Given the description of an element on the screen output the (x, y) to click on. 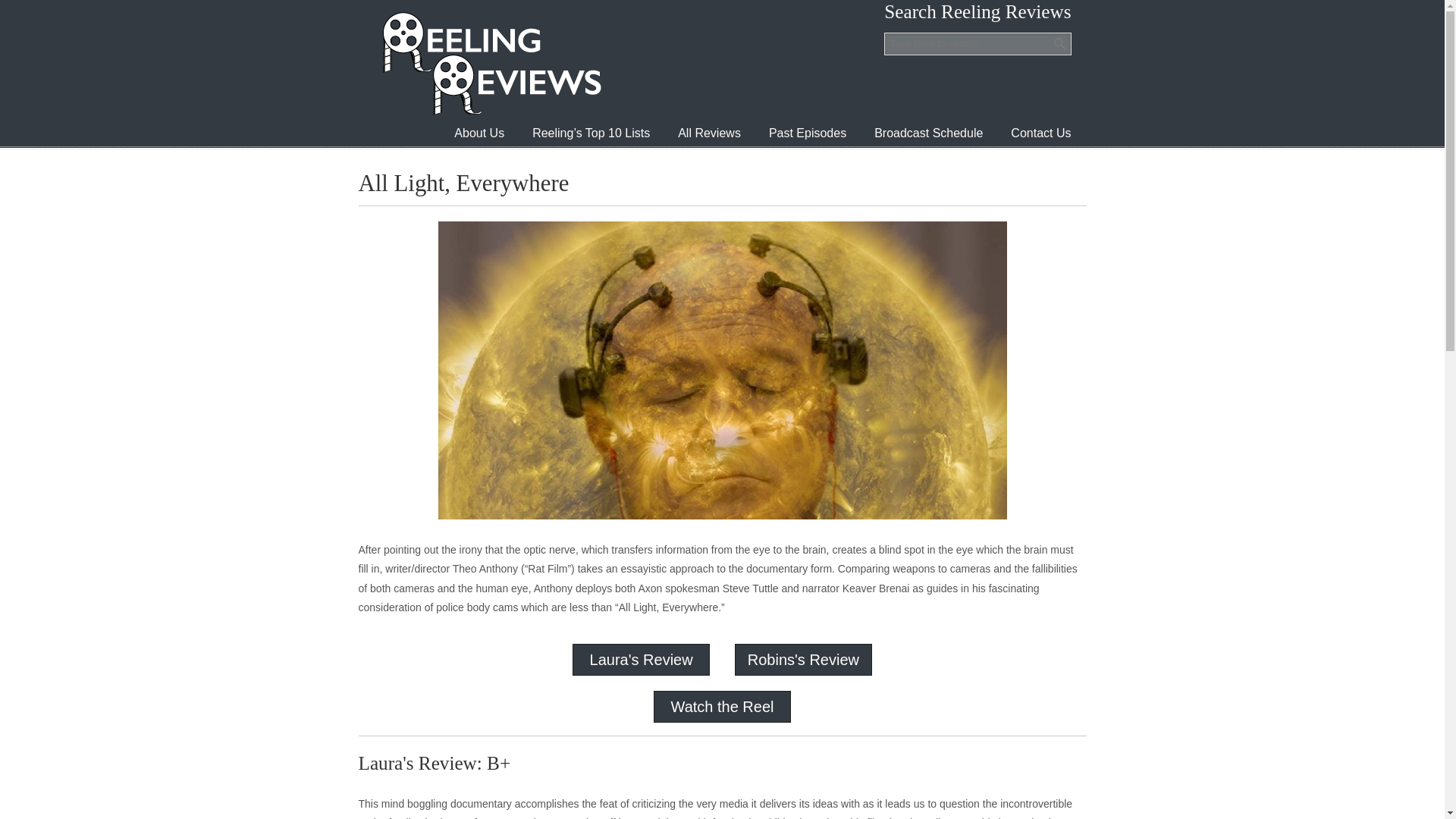
Broadcast Schedule (928, 133)
All Reviews (708, 133)
Laura's Review (641, 659)
Reeling Reviews (489, 63)
Watch the Reel (721, 706)
Contact Us (1040, 133)
About Us (479, 133)
Past Episodes (807, 133)
Robins's Review (803, 659)
Reeling Reviews (489, 63)
